Given the description of an element on the screen output the (x, y) to click on. 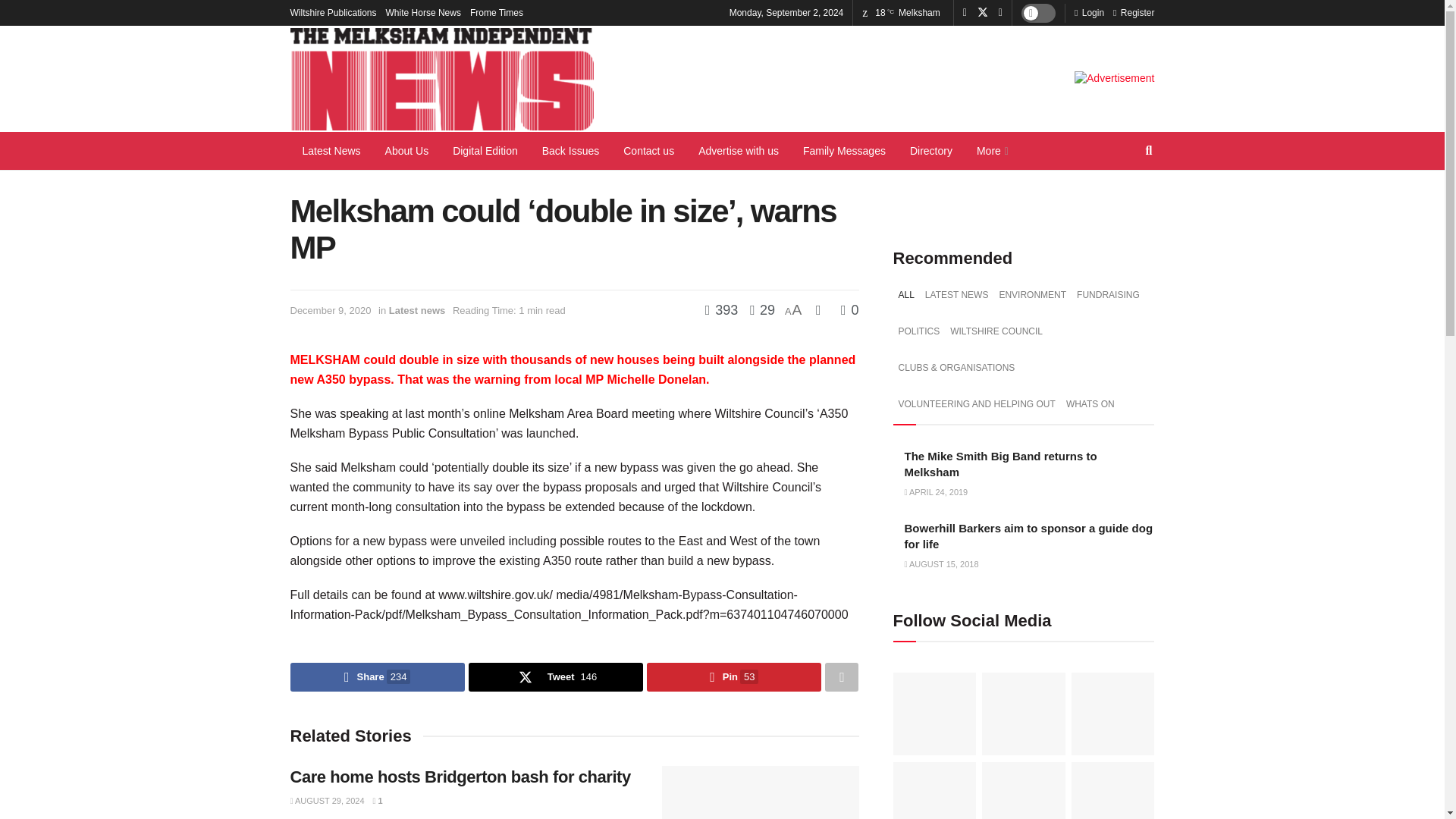
Wiltshire Publications (332, 12)
More (990, 150)
Login (1088, 12)
Back Issues (570, 150)
Directory (930, 150)
Register (1133, 12)
Digital Edition (485, 150)
Contact us (648, 150)
About Us (406, 150)
Family Messages (844, 150)
